Given the description of an element on the screen output the (x, y) to click on. 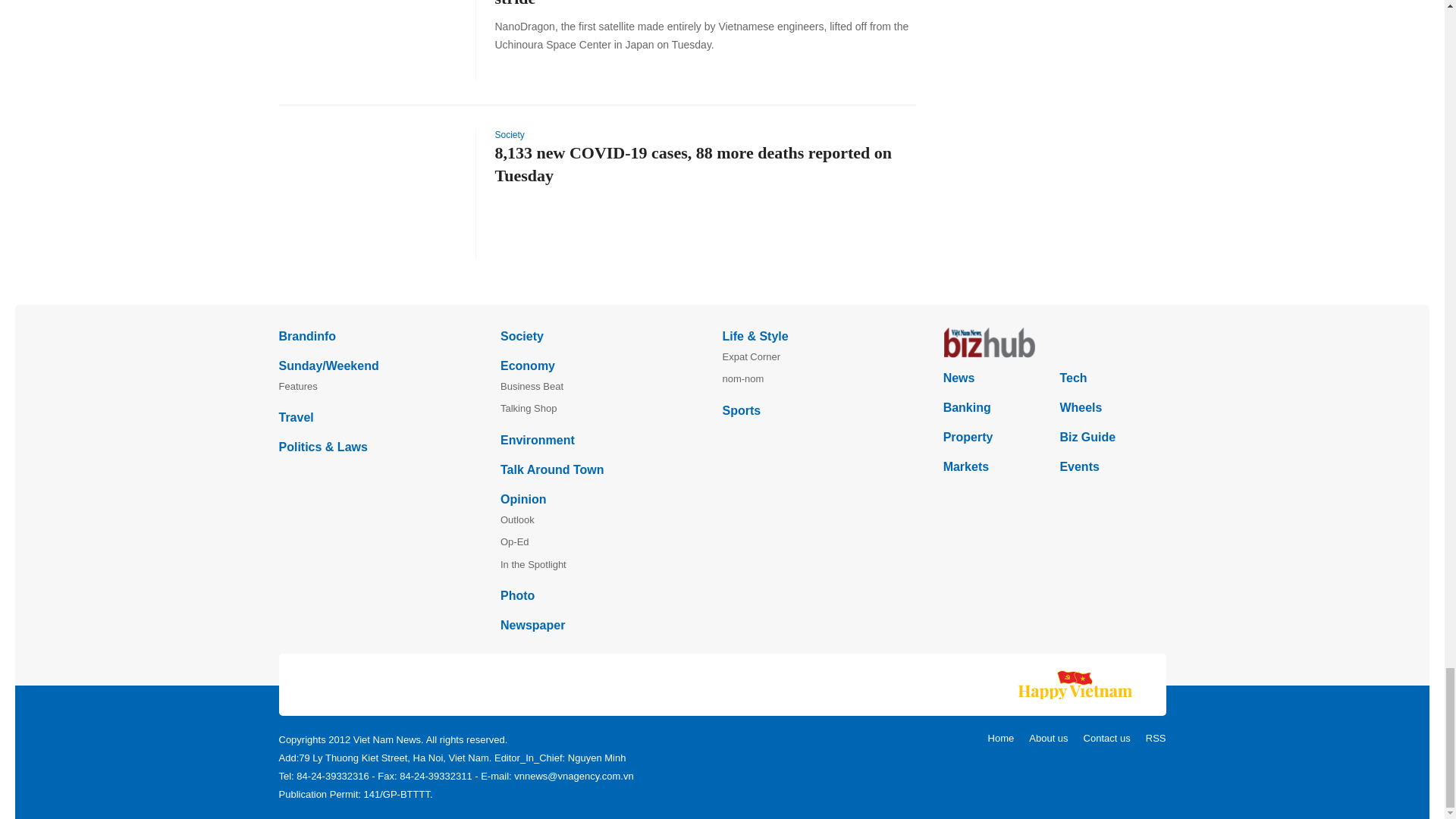
bizhub (1054, 342)
